Given the description of an element on the screen output the (x, y) to click on. 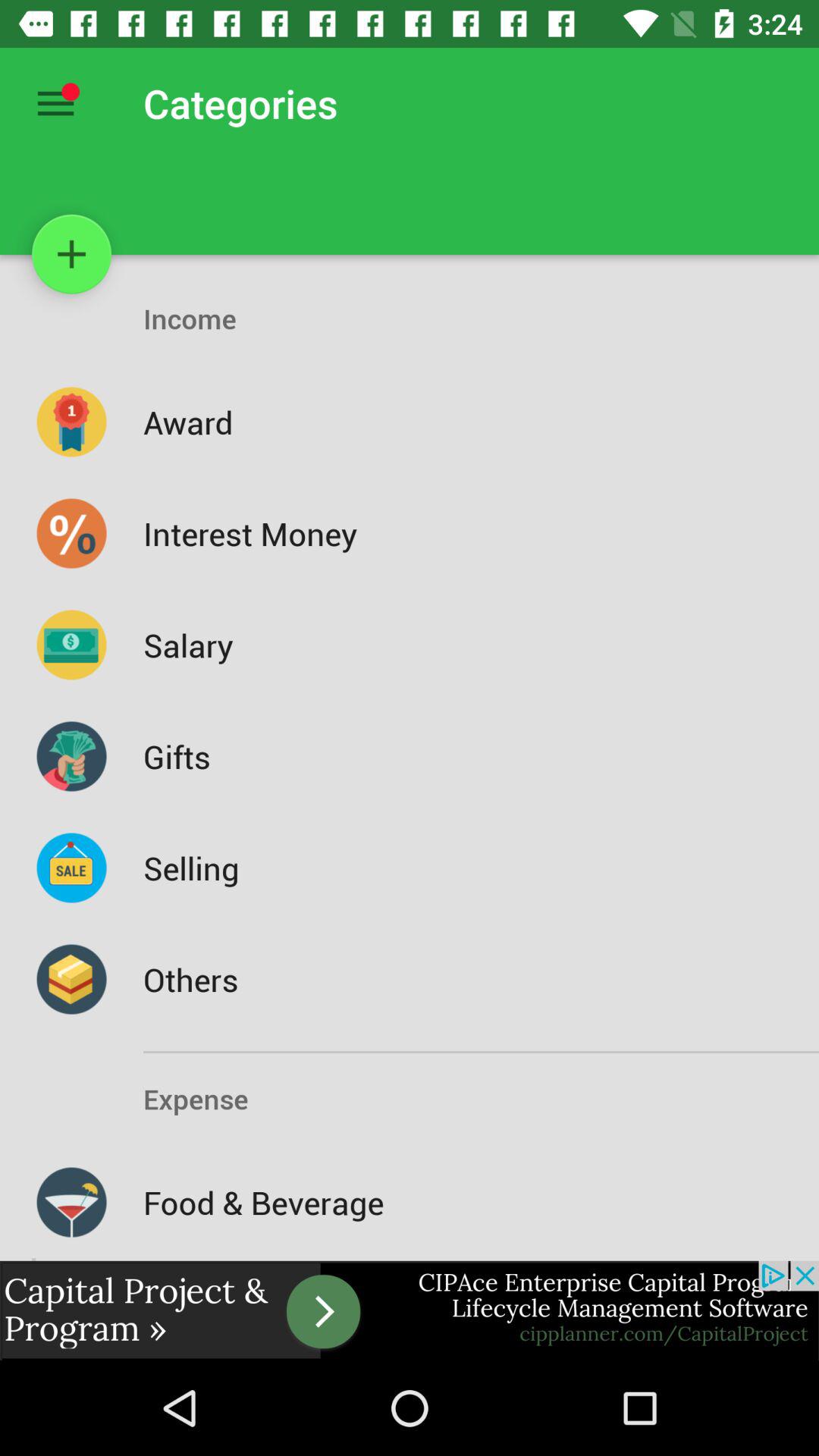
menu options (55, 103)
